Given the description of an element on the screen output the (x, y) to click on. 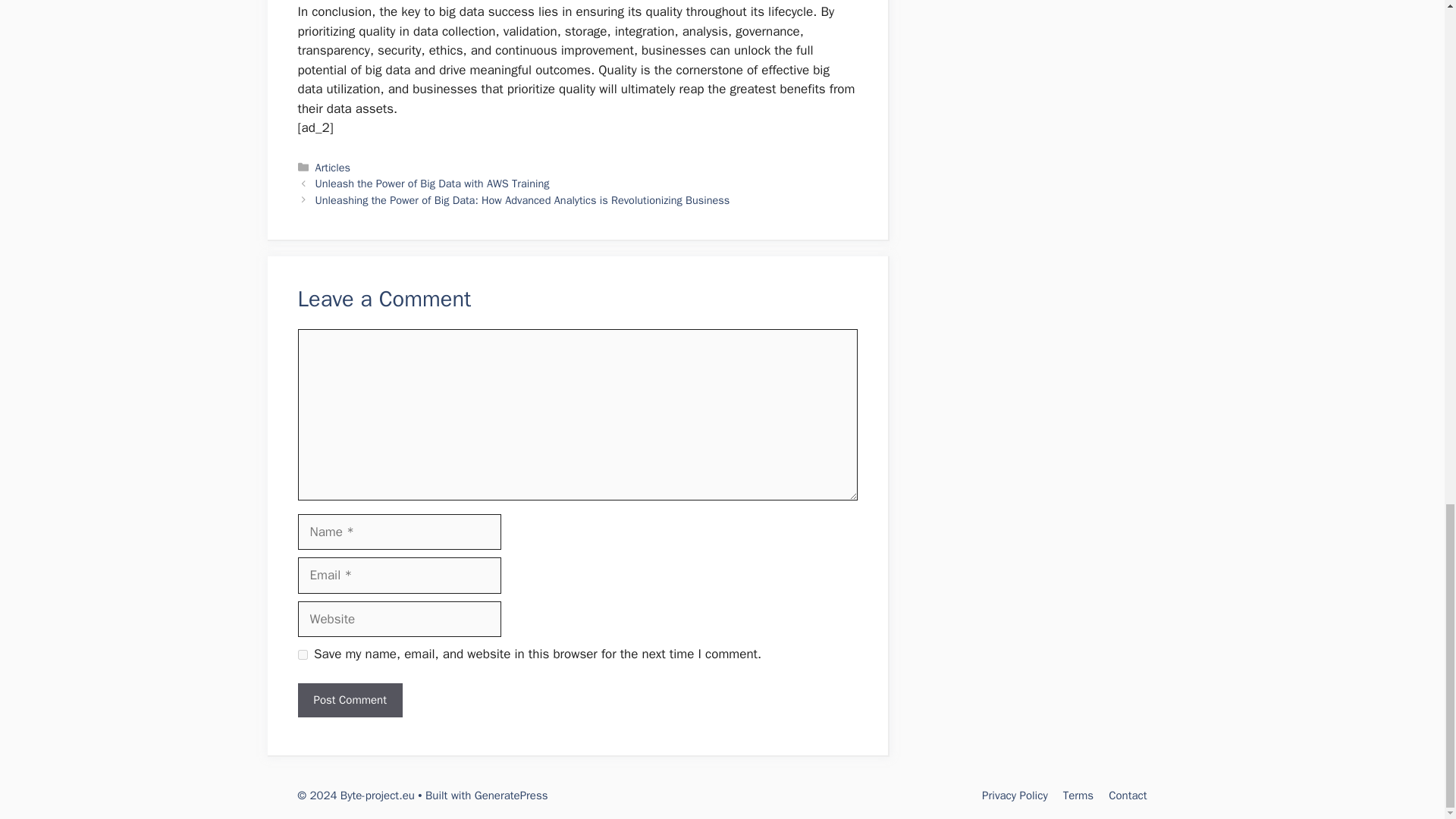
Terms (1077, 795)
Post Comment (349, 700)
Contact (1127, 795)
Articles (332, 167)
Post Comment (349, 700)
GeneratePress (511, 795)
Privacy Policy (1014, 795)
Unleash the Power of Big Data with AWS Training (432, 183)
yes (302, 655)
